Given the description of an element on the screen output the (x, y) to click on. 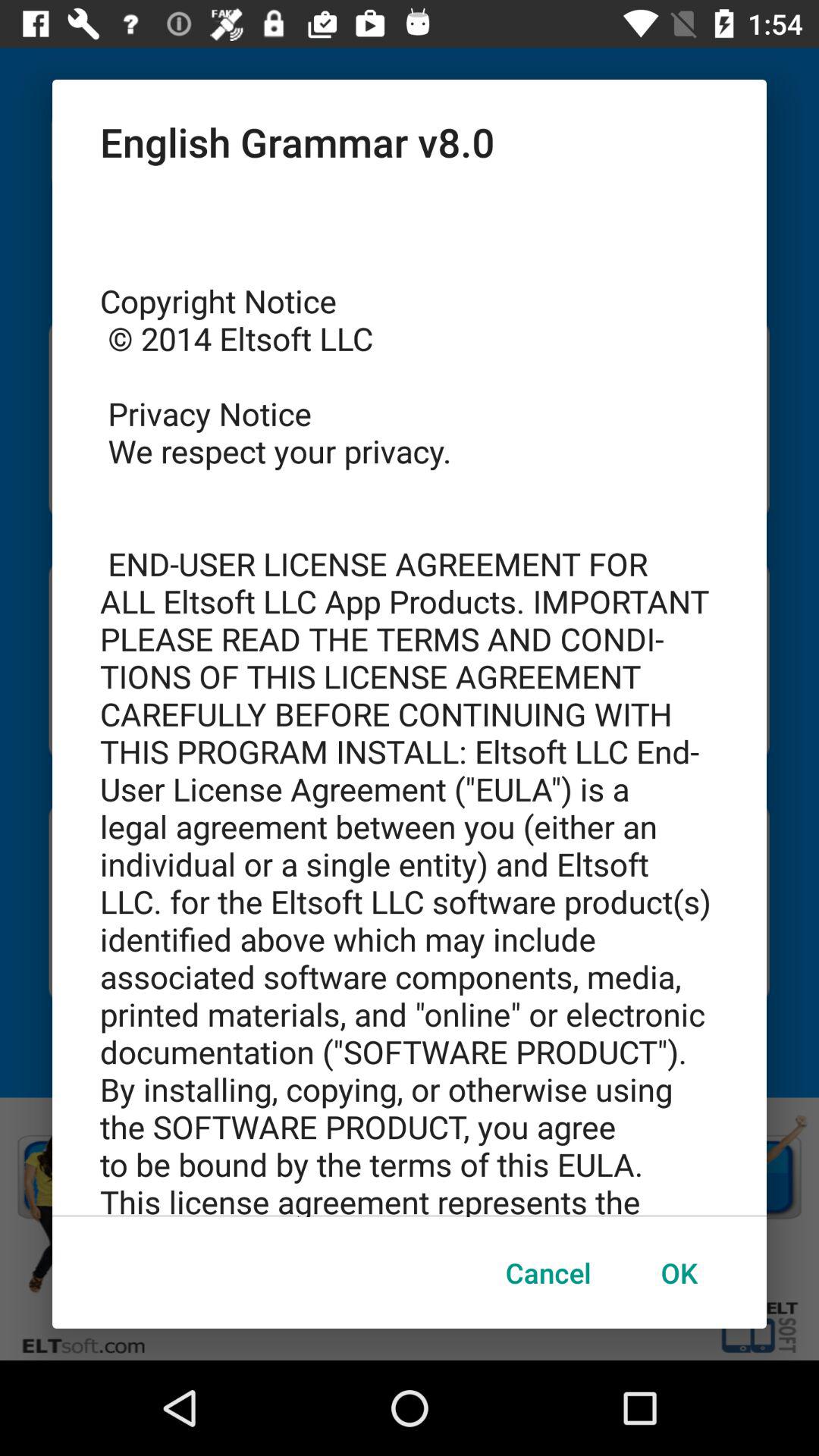
press item to the left of ok (548, 1272)
